Given the description of an element on the screen output the (x, y) to click on. 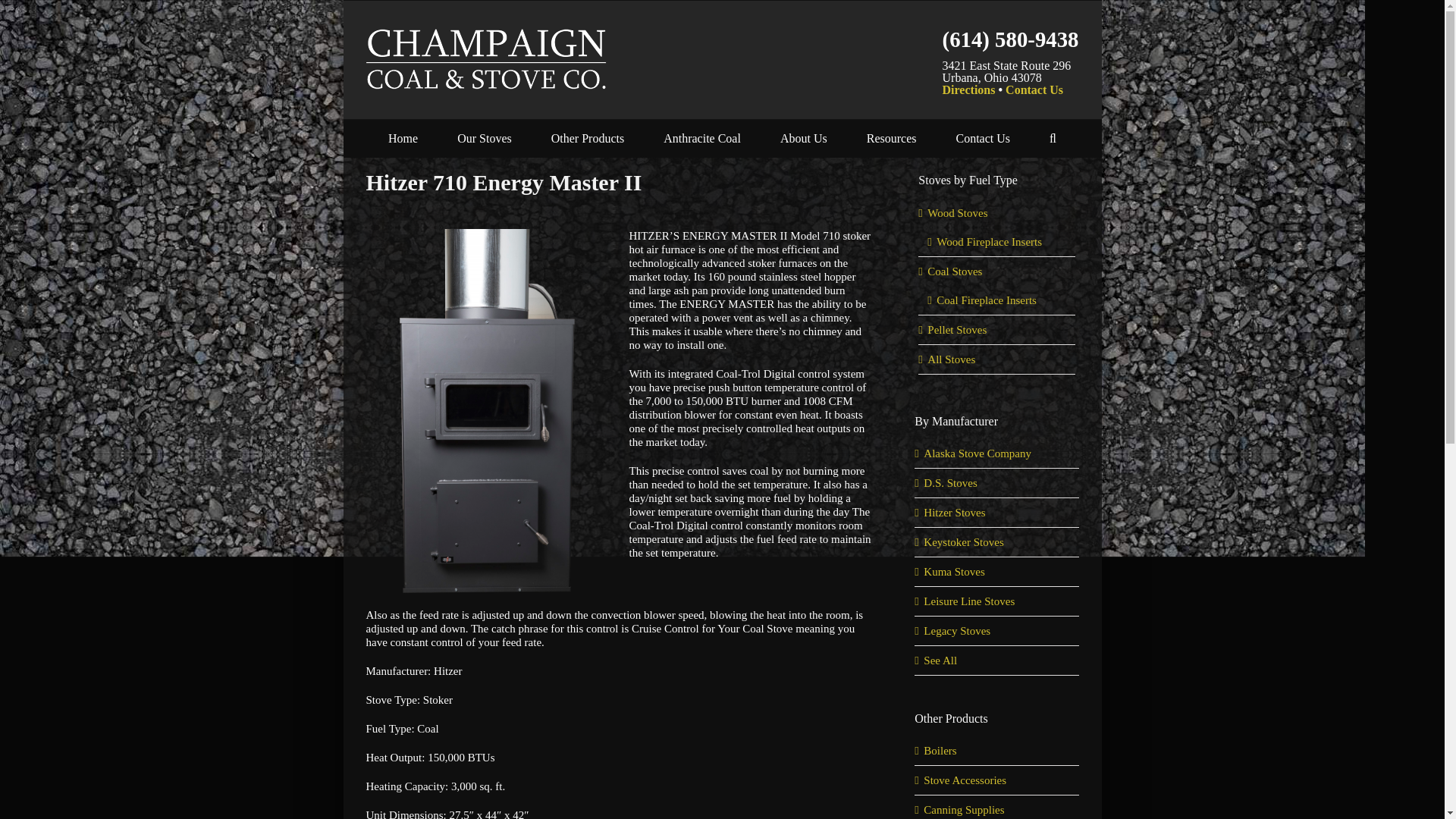
Contact Us (1034, 89)
Wood Fireplace Inserts (989, 241)
Our Stoves (484, 138)
Contact Us (982, 138)
Directions (968, 89)
Resources (891, 138)
Hitzer 710 Energy Master II (617, 190)
Anthracite Coal (702, 138)
About Us (803, 138)
Wood Stoves (957, 213)
